Given the description of an element on the screen output the (x, y) to click on. 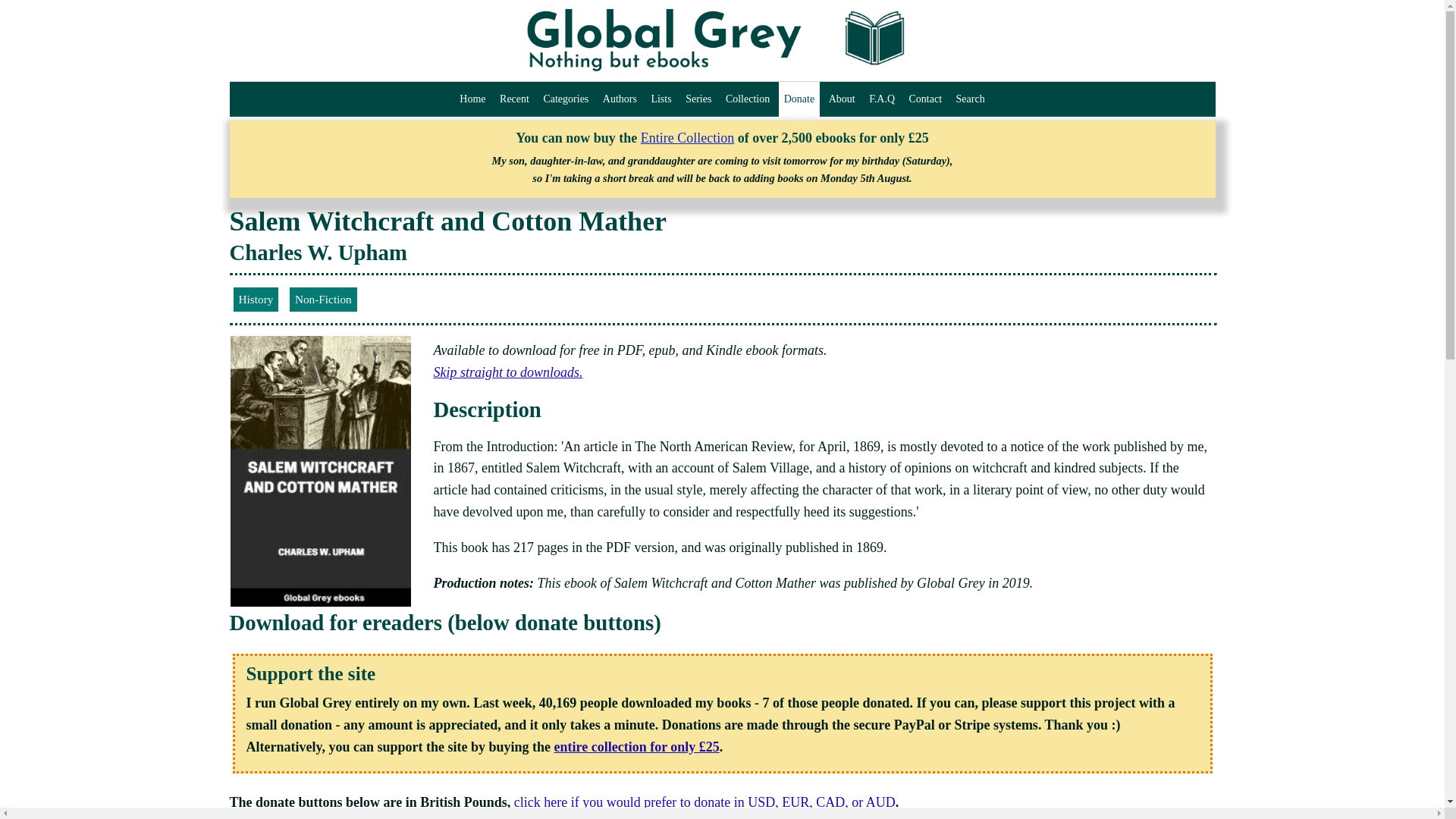
Home (472, 99)
F.A.Q (881, 99)
Entire Collection (686, 137)
Home (472, 99)
Categories (565, 99)
Authors (619, 99)
Non-Fiction (322, 299)
Recently Added (514, 99)
History (255, 298)
Search (970, 99)
Categories (565, 99)
Contact (925, 99)
